Given the description of an element on the screen output the (x, y) to click on. 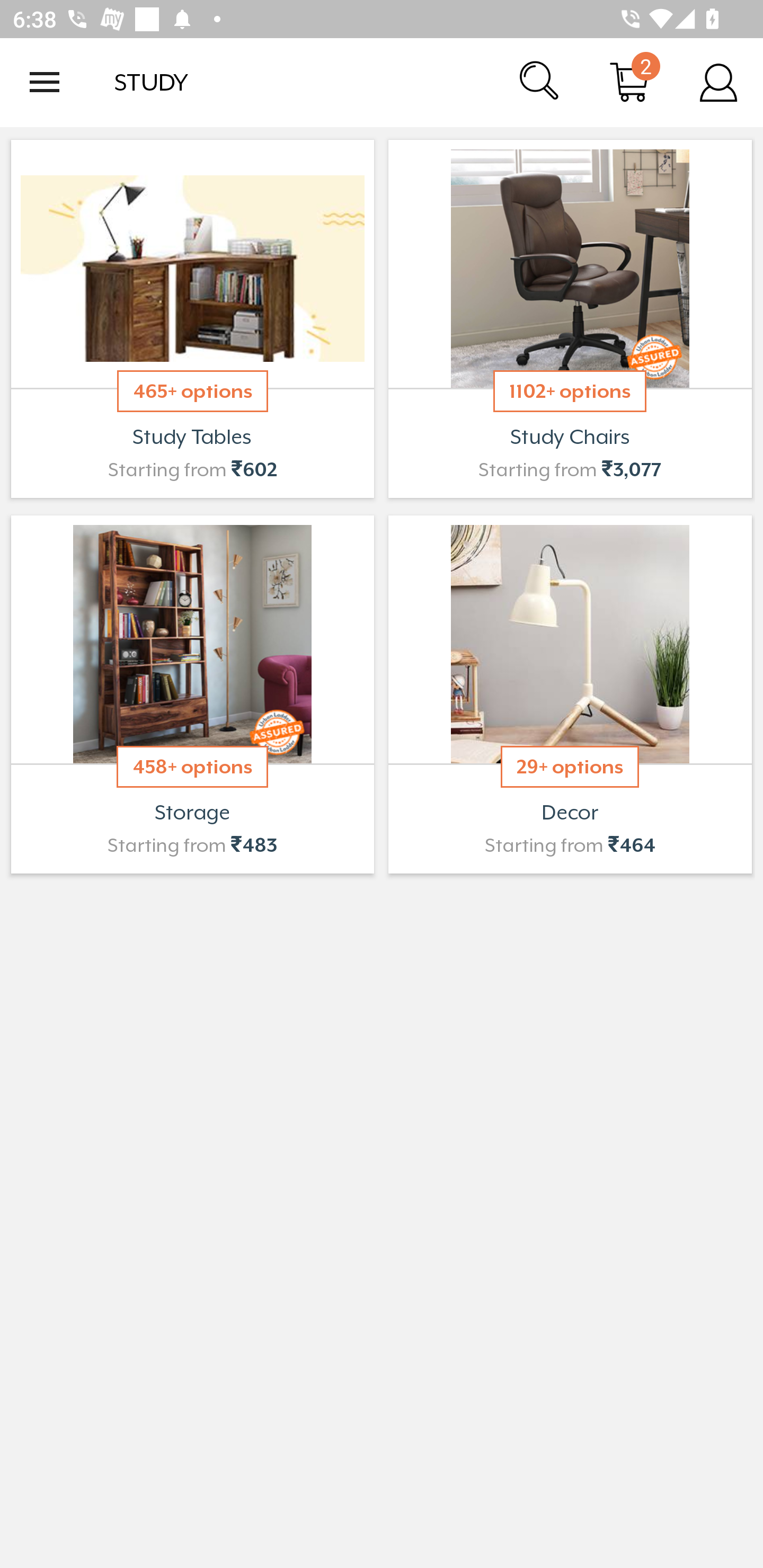
Open navigation drawer (44, 82)
Search (540, 81)
Cart (629, 81)
Account Details (718, 81)
465+ options Study Tables Starting from  ₹602 (191, 318)
1102+ options Study Chairs Starting from  ₹3,077 (570, 318)
458+ options Storage Starting from  ₹483 (191, 694)
29+ options Decor Starting from  ₹464 (570, 694)
